Given the description of an element on the screen output the (x, y) to click on. 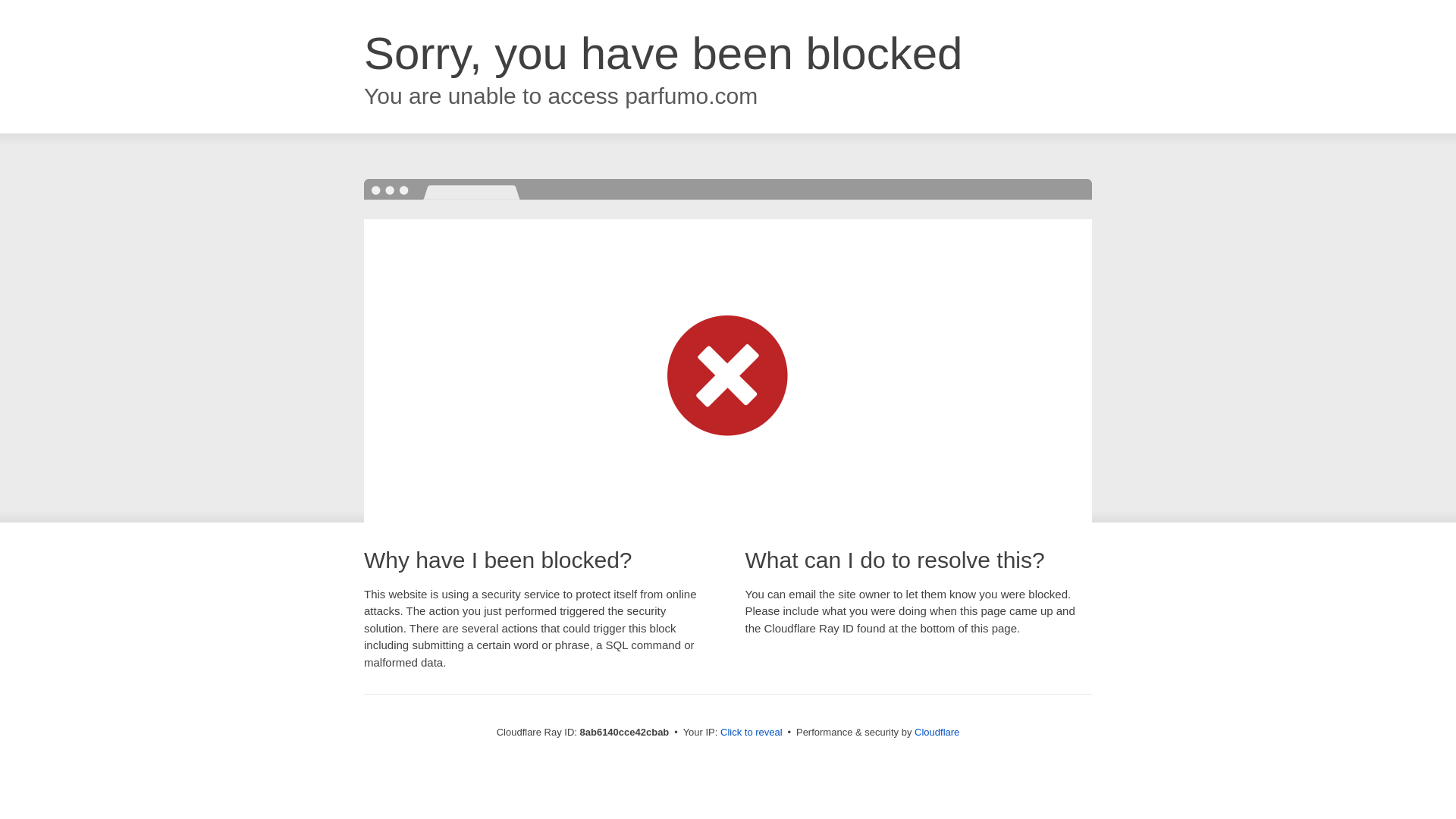
Click to reveal (751, 732)
Cloudflare (936, 731)
